Given the description of an element on the screen output the (x, y) to click on. 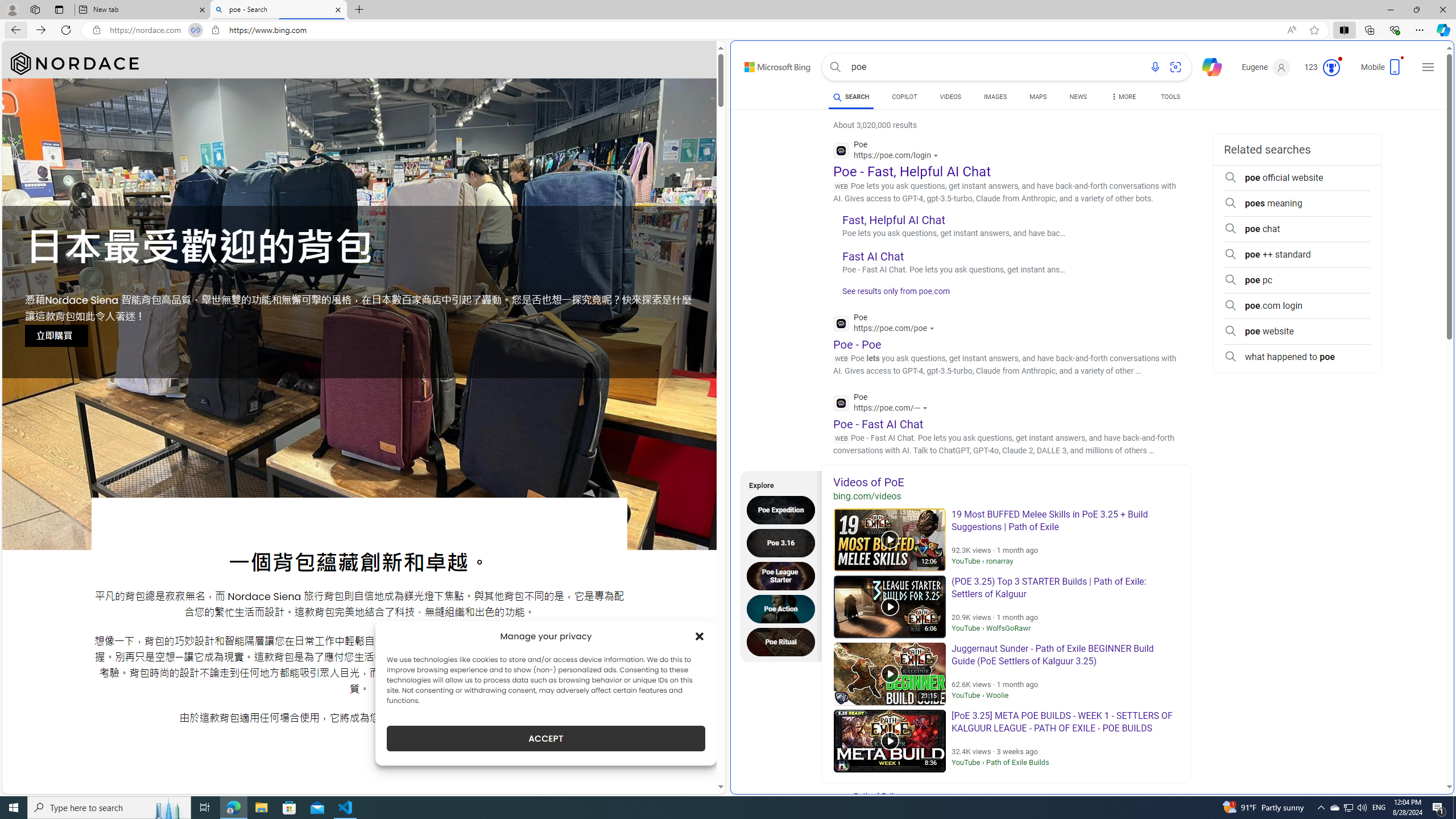
Search using voice (1154, 66)
Poe - Fast, Helpful AI Chat (911, 170)
TOOLS (1171, 96)
MORE (1123, 98)
Skip to content (764, 63)
Poe Ritual (783, 641)
poe chat (1297, 229)
